Given the description of an element on the screen output the (x, y) to click on. 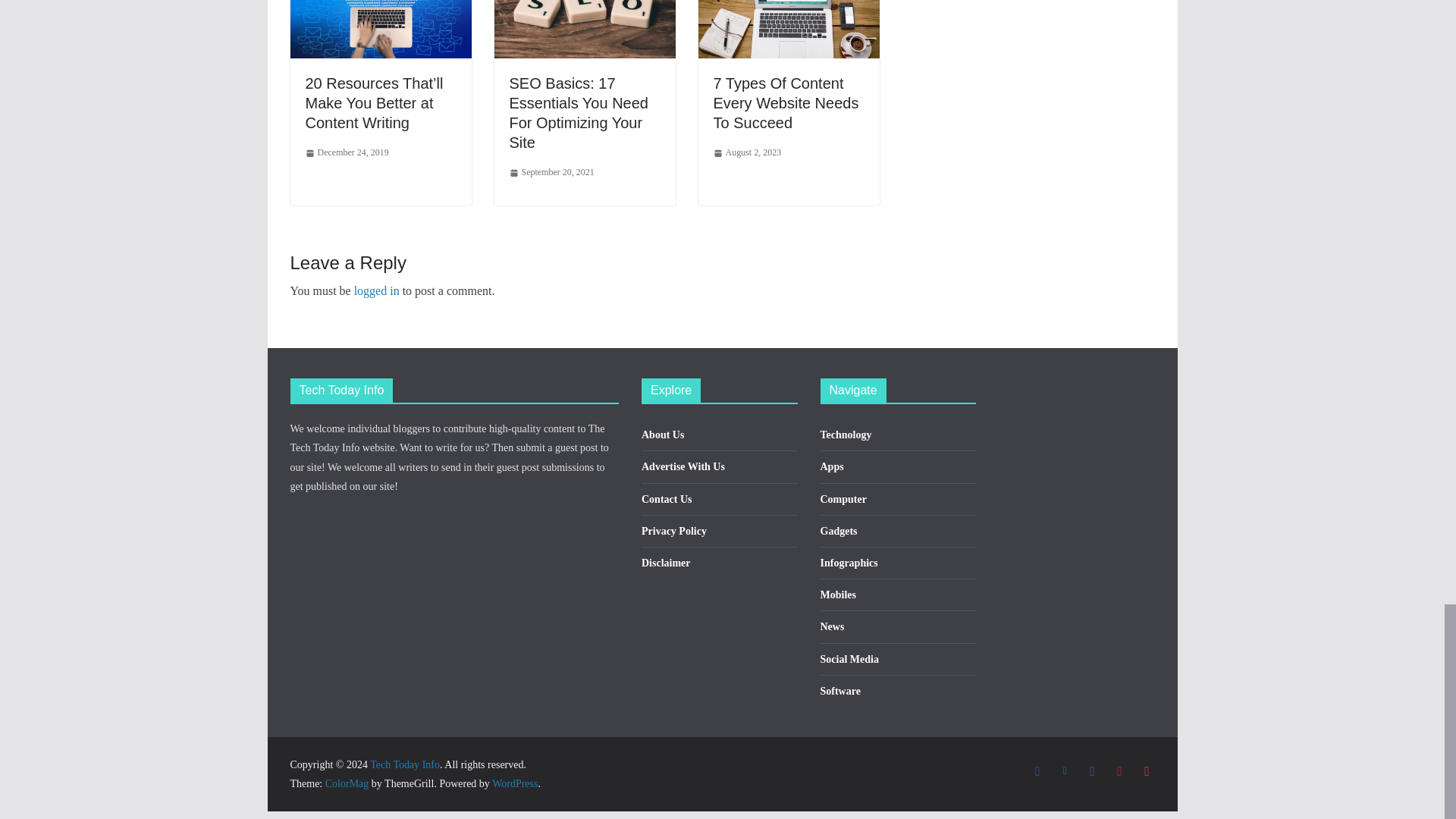
5:45 am (346, 152)
December 24, 2019 (346, 152)
SEO Basics: 17 Essentials You Need For Optimizing Your Site (578, 112)
